Given the description of an element on the screen output the (x, y) to click on. 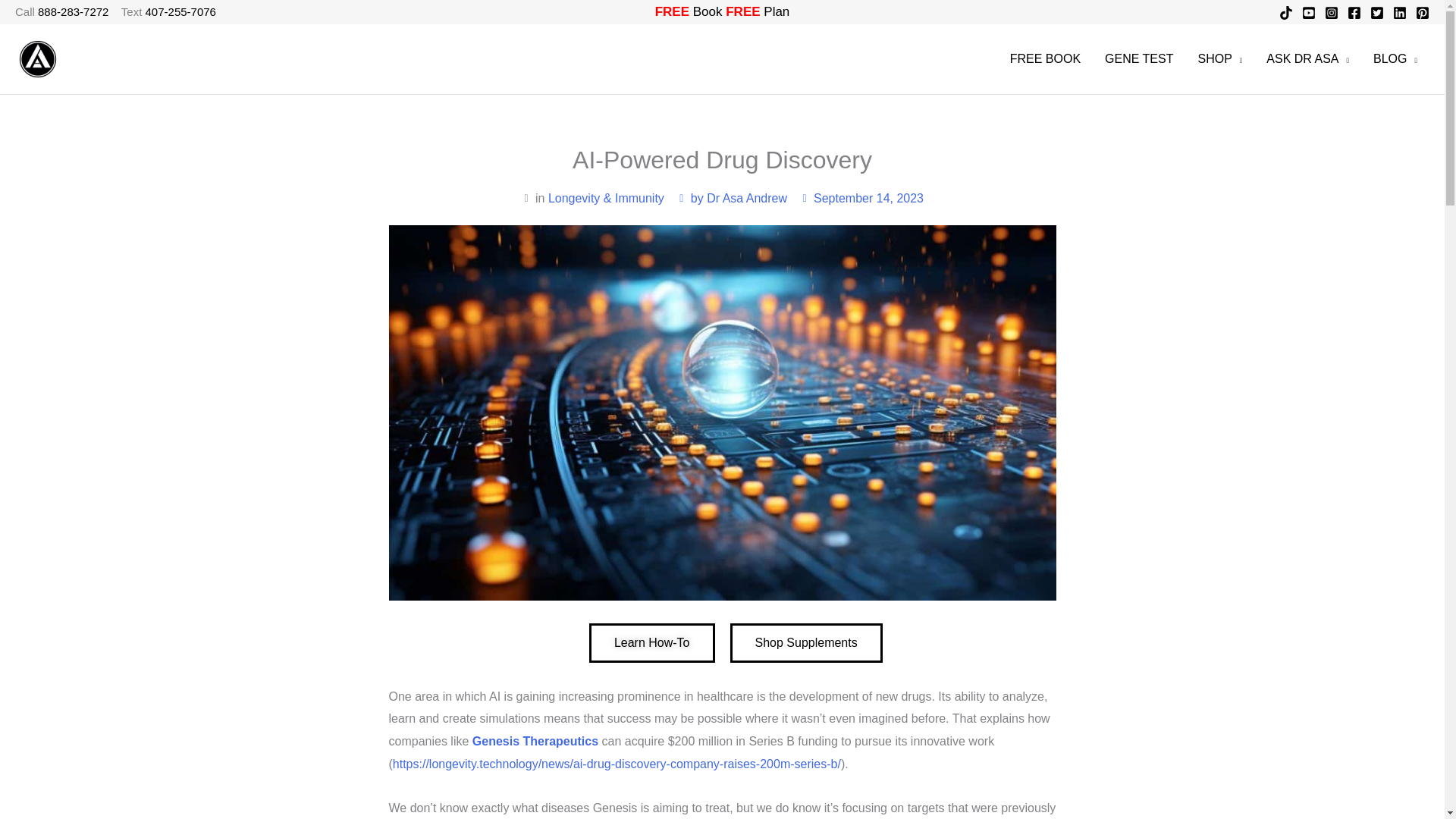
BLOG (1395, 58)
SHOP (1219, 58)
FREE Book (688, 11)
GENE TEST (1139, 58)
888-283-7272 (72, 11)
407-255-7076 (180, 11)
FREE Plan (757, 11)
FREE BOOK (1045, 58)
ASK DR ASA (1307, 58)
